Given the description of an element on the screen output the (x, y) to click on. 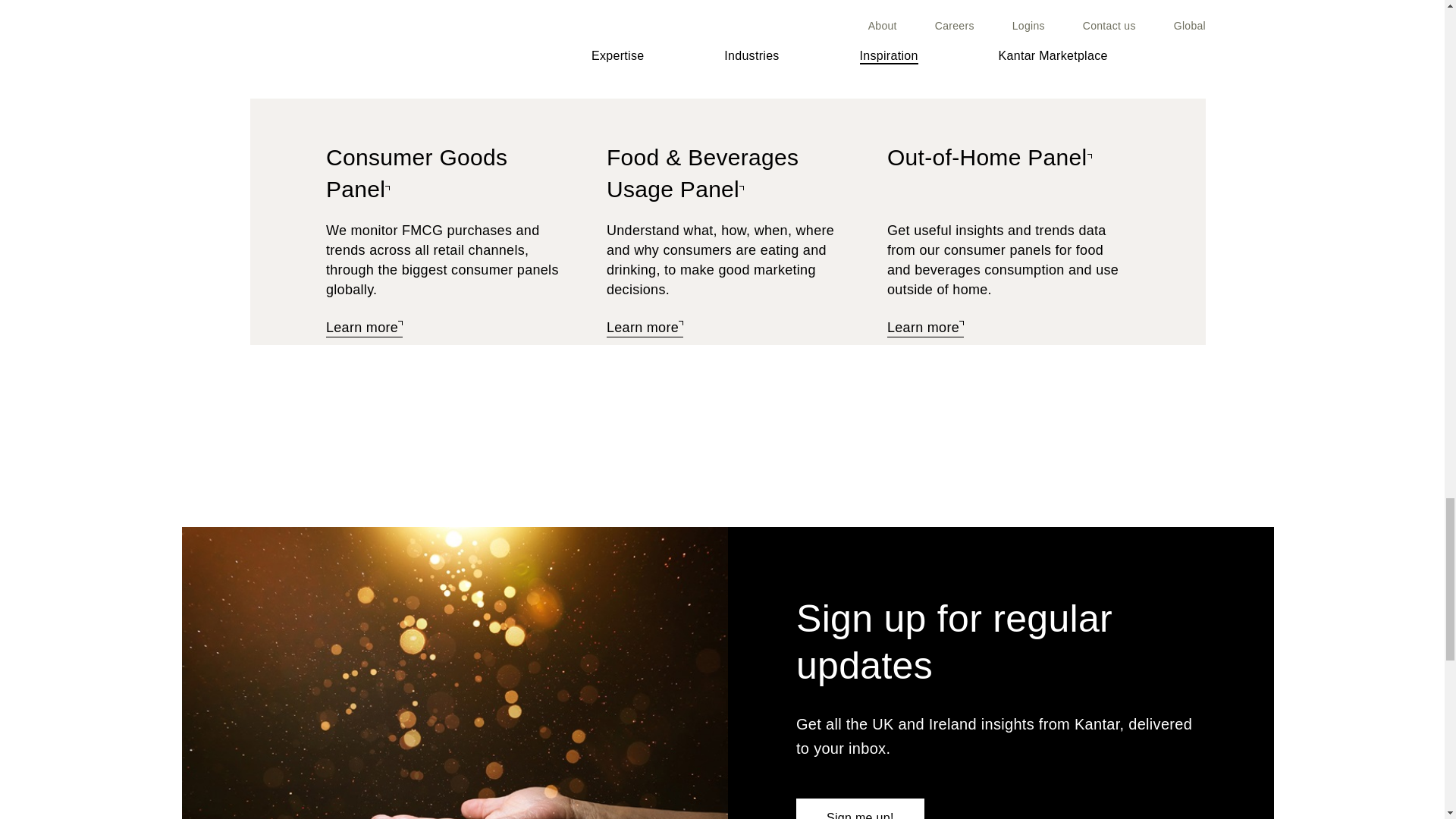
Consumer Goods Panel (416, 173)
Out-of-Home Panel (924, 328)
Food and Beverages Usage Panel (644, 328)
Out-of-Home Panel (989, 157)
Food and Beverages Usage Panel (702, 173)
Consumer Goods Panel (364, 328)
